Given the description of an element on the screen output the (x, y) to click on. 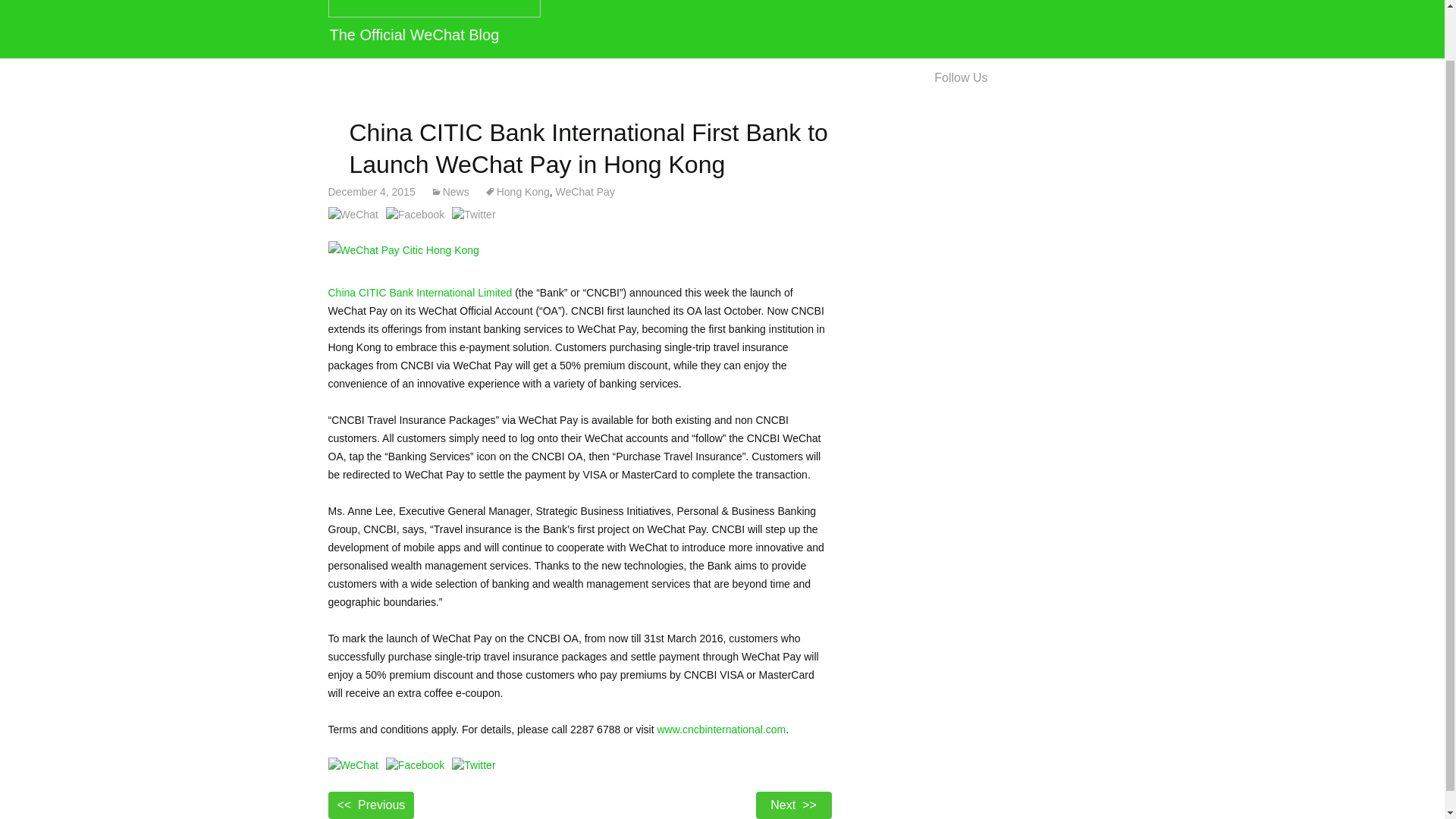
WeChat (414, 764)
Twitter (1044, 77)
WeChat (352, 214)
WeChat Blog: Chatterbox (722, 29)
WeChat (473, 214)
www.cncbinternational.com (721, 729)
December 4, 2015 (722, 29)
RSS (370, 191)
